Given the description of an element on the screen output the (x, y) to click on. 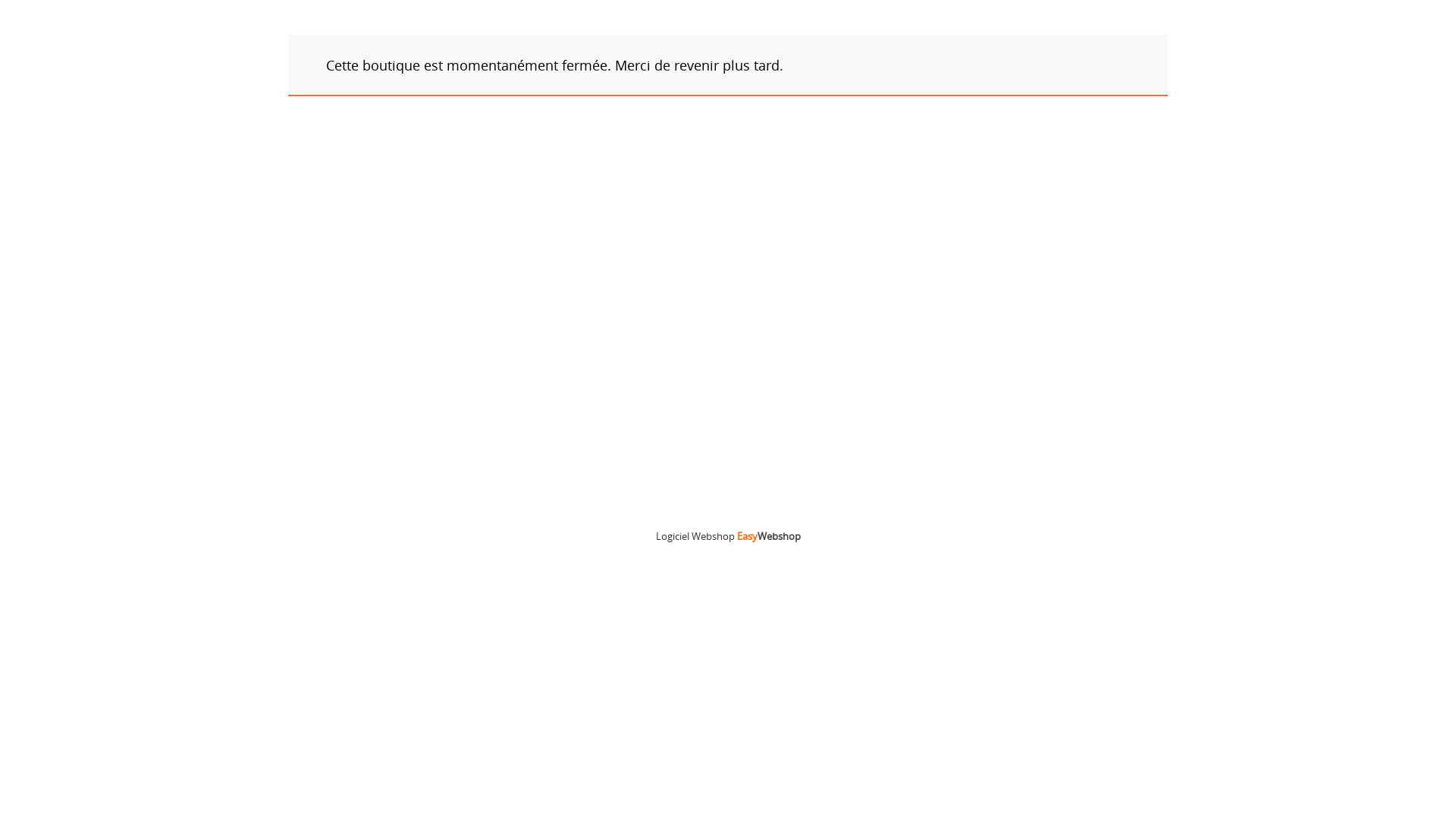
Logiciel Webshop EasyWebshop Element type: text (727, 535)
